Given the description of an element on the screen output the (x, y) to click on. 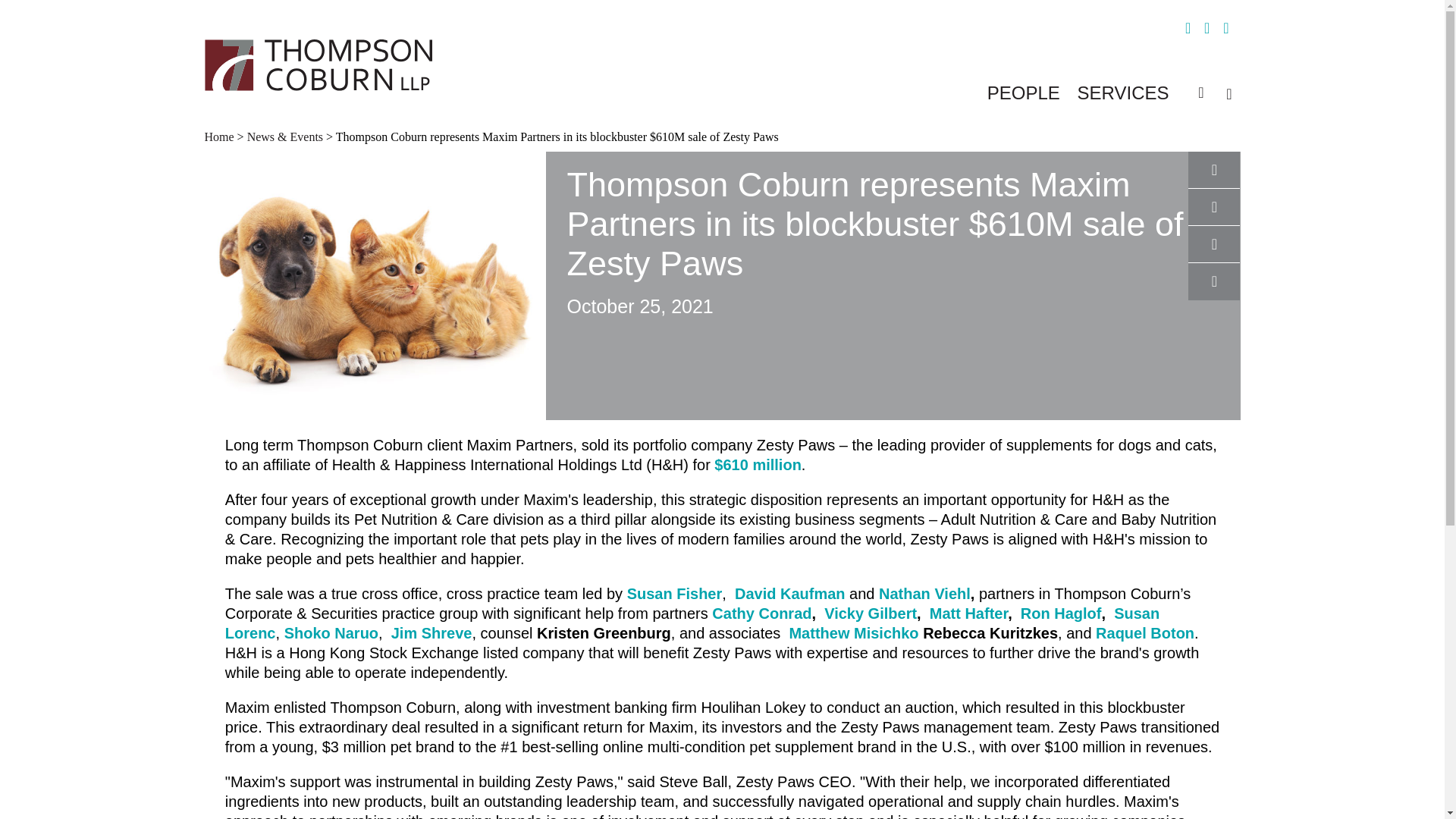
David Kaufman (790, 593)
Home (221, 136)
Matt Hafter (968, 613)
Vicky Gilbert (870, 613)
 Nathan Viehl (922, 593)
Cathy Conrad (760, 613)
SERVICES (1123, 92)
Ron Haglof (1061, 613)
PEOPLE (1023, 92)
Susan Lorenc (691, 623)
